Given the description of an element on the screen output the (x, y) to click on. 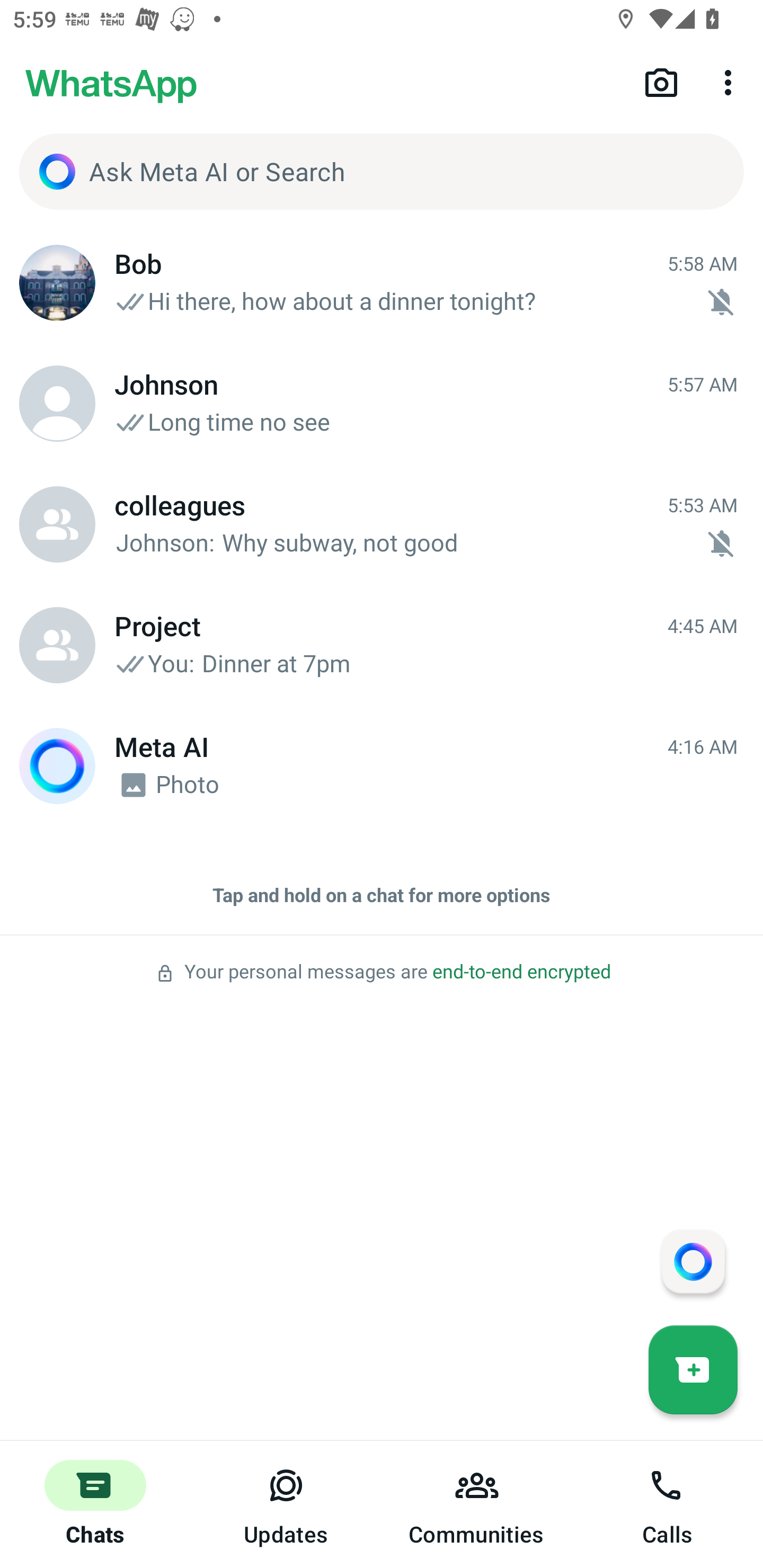
Camera (661, 81)
More options (731, 81)
Bob (57, 282)
Johnson Johnson 5:57 AM 5:57 AM Long time no see (381, 403)
Johnson (57, 403)
colleagues (57, 524)
Project (57, 644)
Meta AI Meta AI 4:16 AM 4:16 AM Photo (381, 765)
Meta AI (57, 765)
end-to-end encrypted (521, 972)
Message your assistant (692, 1261)
New chat (692, 1369)
Updates (285, 1504)
Communities (476, 1504)
Calls (667, 1504)
